Given the description of an element on the screen output the (x, y) to click on. 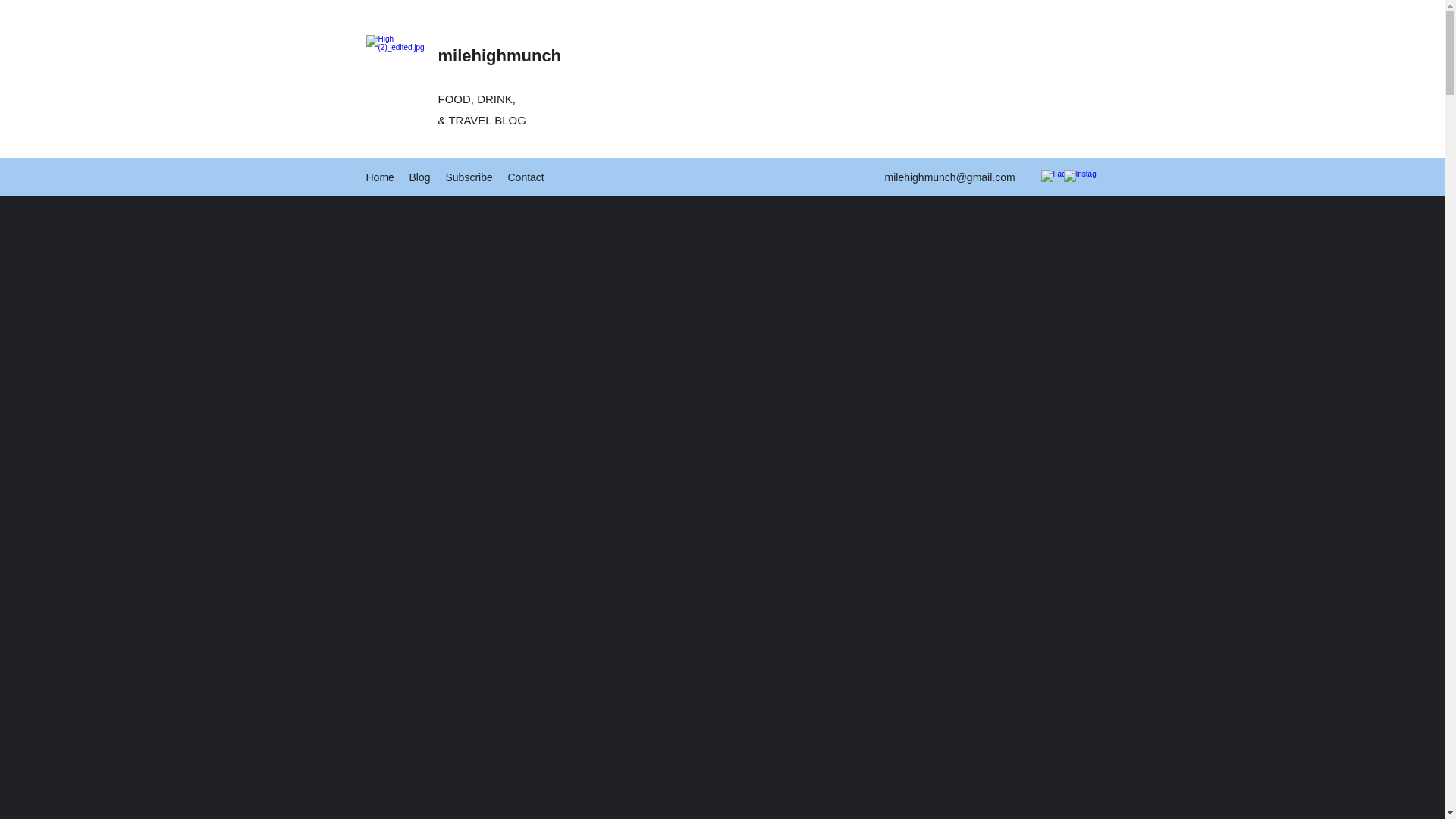
Blog (419, 177)
Contact (525, 177)
Subscribe (469, 177)
Home (379, 177)
